Given the description of an element on the screen output the (x, y) to click on. 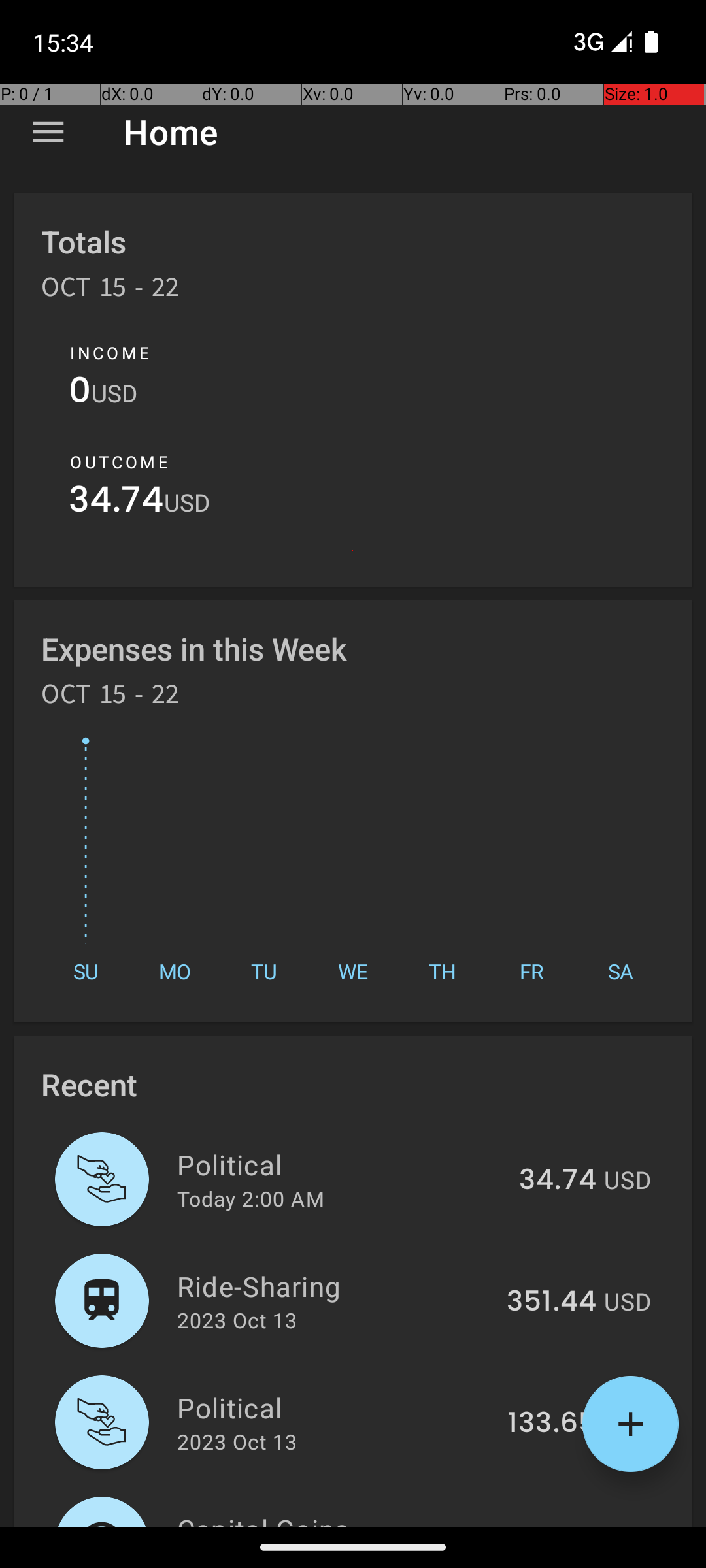
Totals Element type: android.widget.TextView (83, 240)
OCT 15 - 22 Element type: android.widget.TextView (110, 291)
INCOME Element type: android.widget.TextView (109, 352)
OUTCOME Element type: android.widget.TextView (118, 461)
34.74 Element type: android.widget.TextView (116, 502)
Expenses in this Week Element type: android.widget.TextView (194, 648)
Political Element type: android.widget.TextView (340, 1164)
Today 2:00 AM Element type: android.widget.TextView (250, 1198)
Ride-Sharing Element type: android.widget.TextView (334, 1285)
2023 Oct 13 Element type: android.widget.TextView (236, 1320)
351.44 Element type: android.widget.TextView (550, 1301)
133.65 Element type: android.widget.TextView (551, 1423)
Capital Gains Element type: android.widget.TextView (342, 1518)
498.1 Element type: android.widget.TextView (559, 1524)
